Given the description of an element on the screen output the (x, y) to click on. 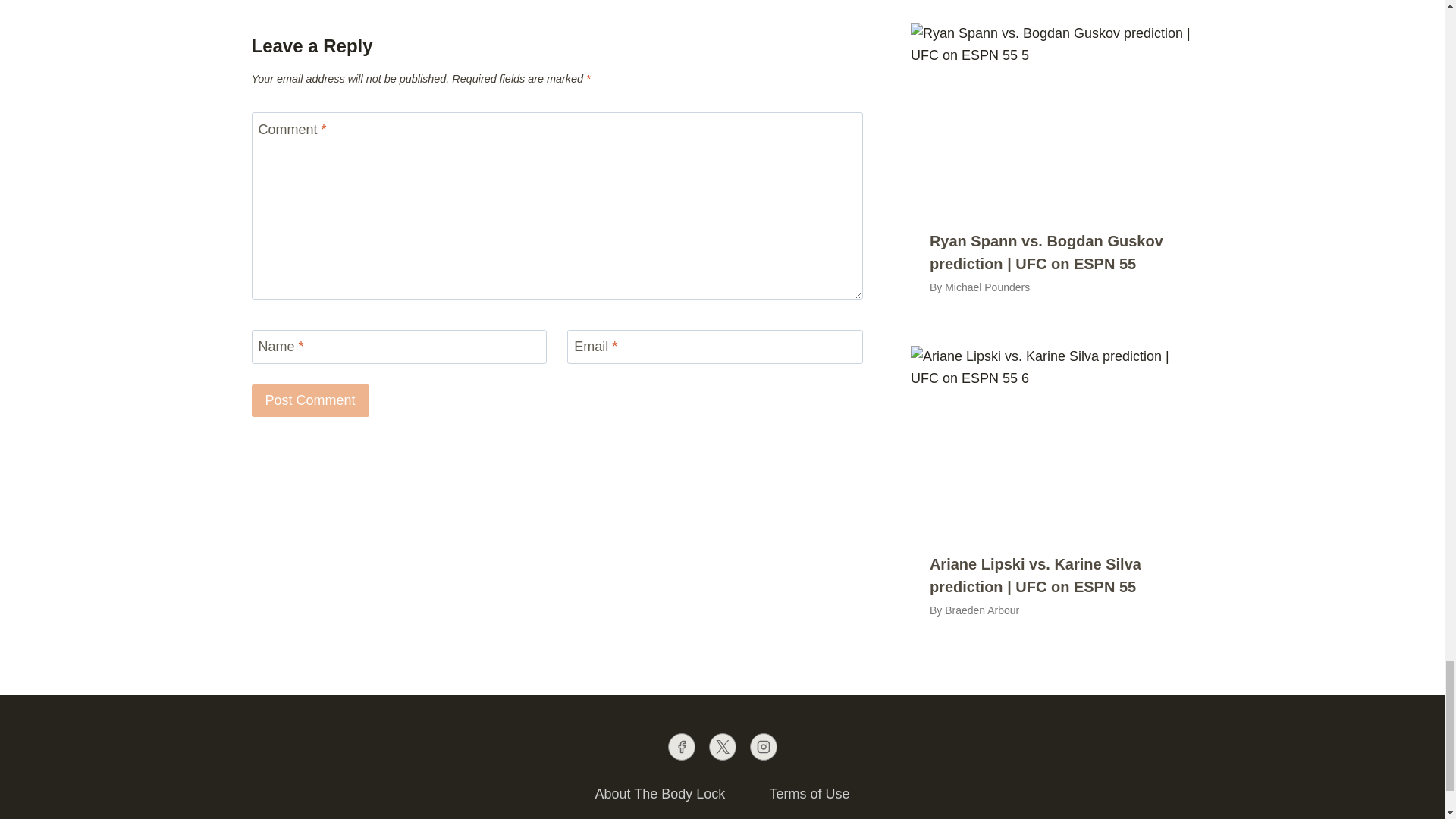
Post Comment (310, 400)
Post Comment (310, 400)
